Given the description of an element on the screen output the (x, y) to click on. 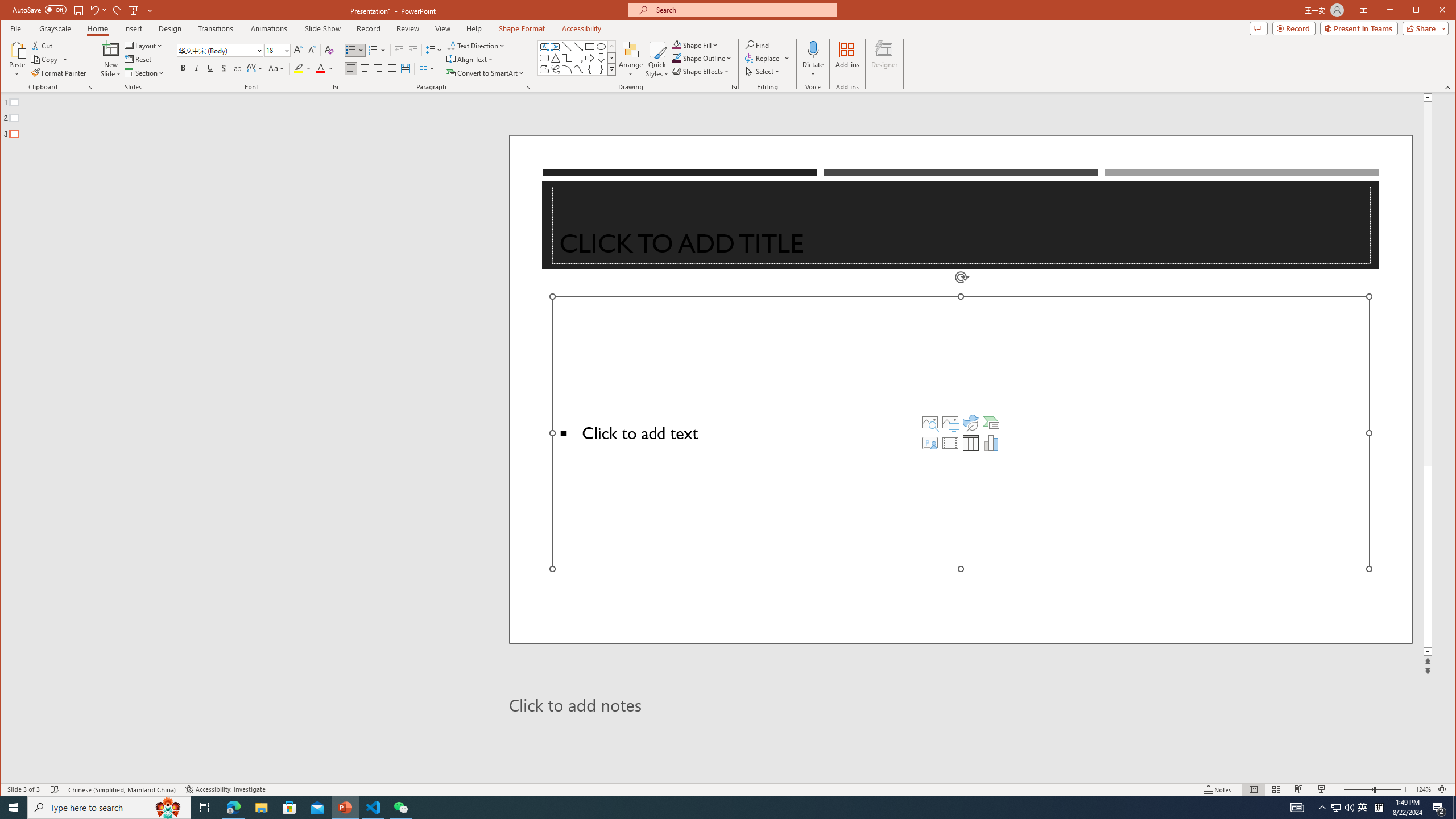
Outline (252, 115)
